Given the description of an element on the screen output the (x, y) to click on. 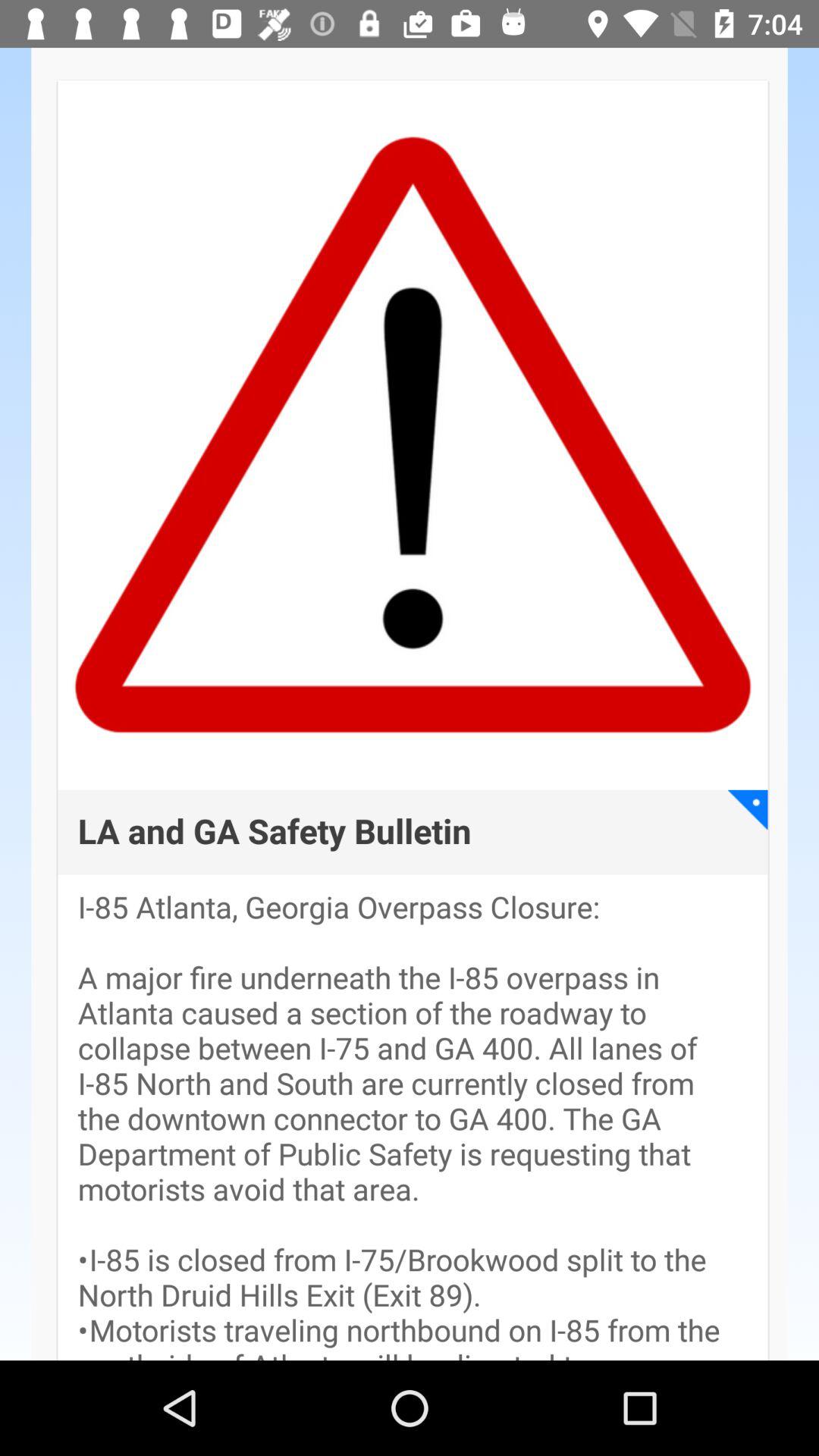
open item on the right (747, 809)
